Given the description of an element on the screen output the (x, y) to click on. 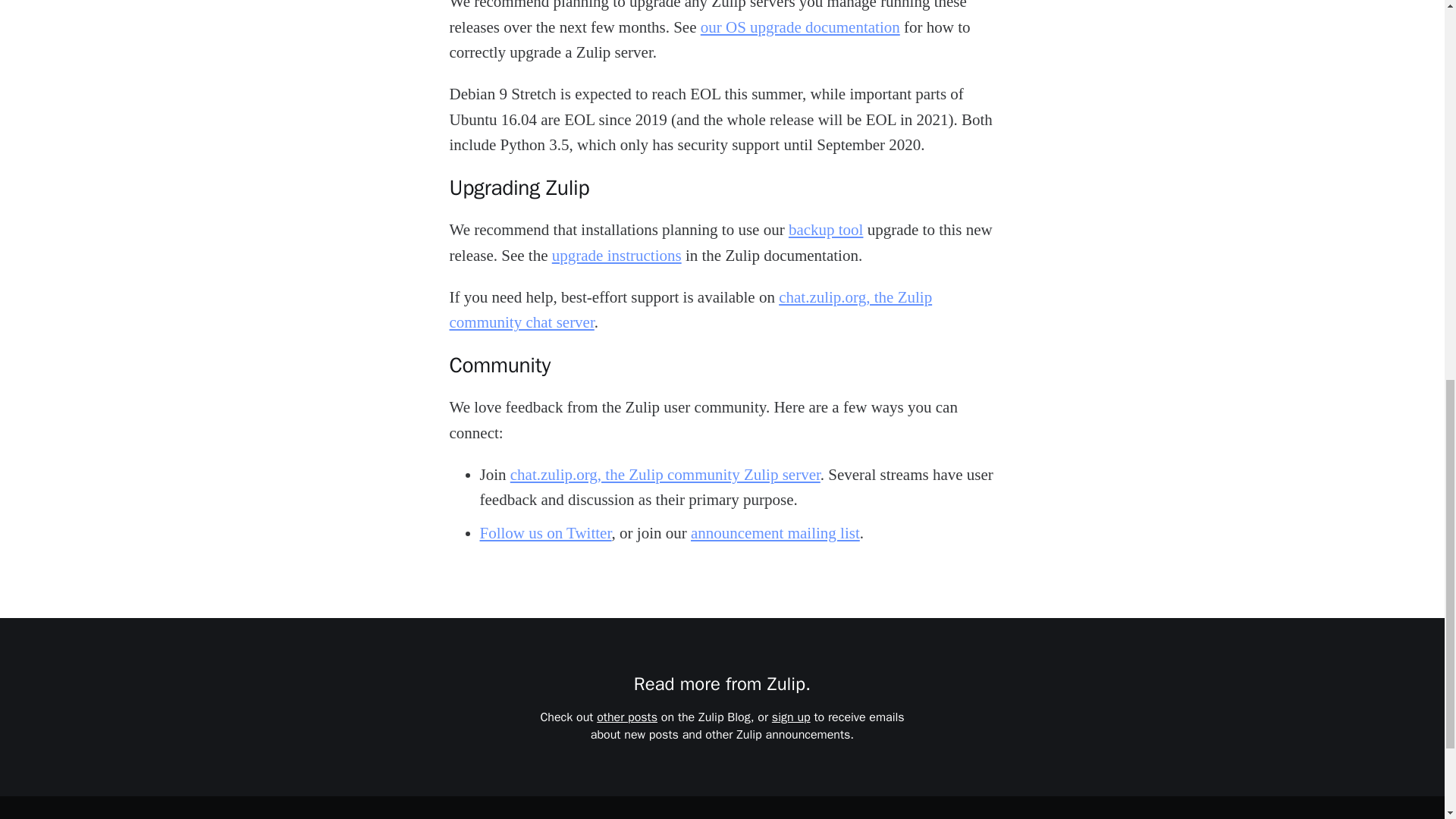
upgrade instructions (616, 255)
Follow us on Twitter (545, 533)
chat.zulip.org, the Zulip community Zulip server (666, 475)
our OS upgrade documentation (799, 27)
backup tool (826, 229)
announcement mailing list (775, 533)
sign up (790, 717)
other posts (627, 717)
chat.zulip.org, the Zulip community chat server (689, 310)
